Given the description of an element on the screen output the (x, y) to click on. 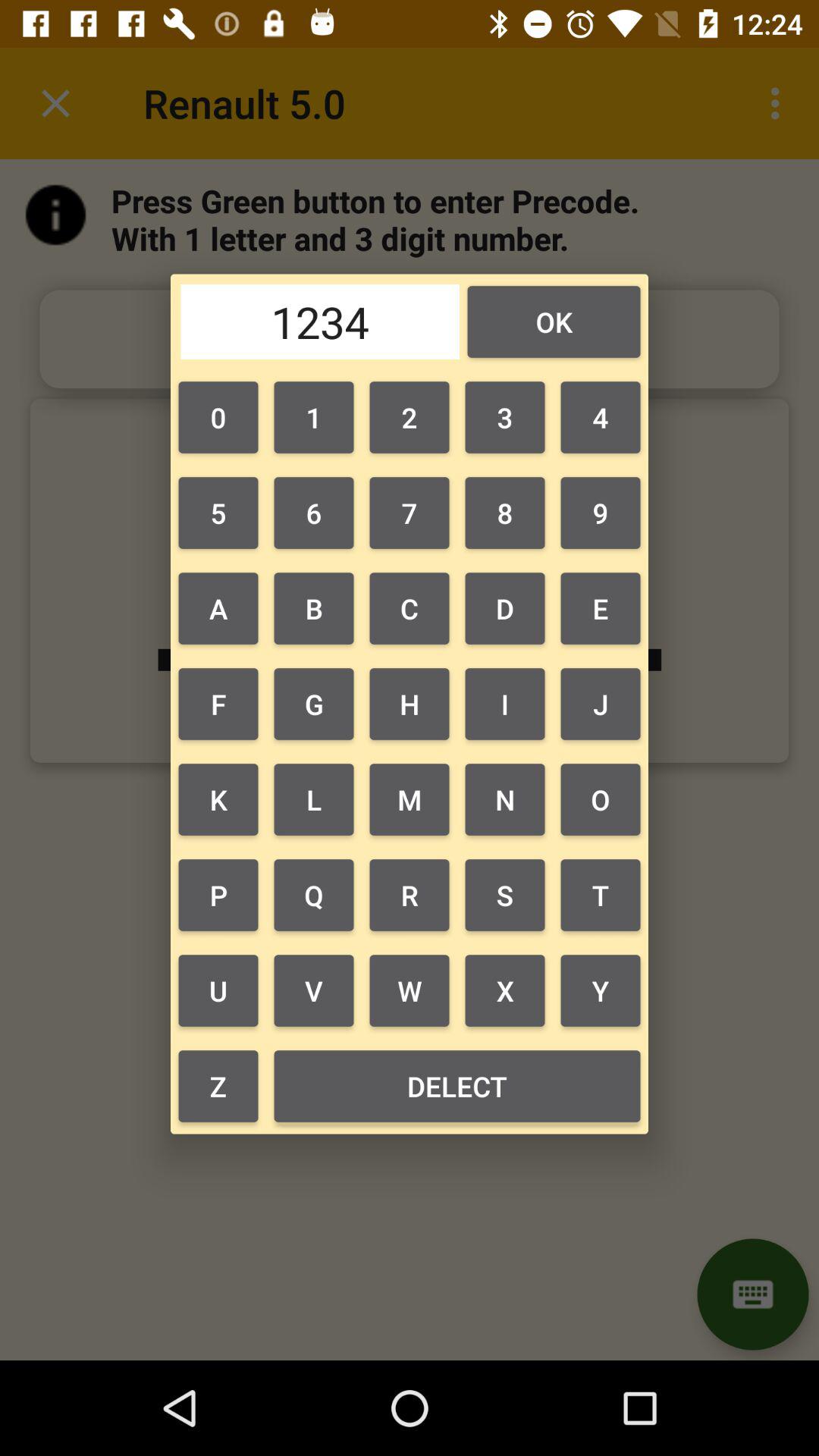
flip until the f icon (218, 703)
